Given the description of an element on the screen output the (x, y) to click on. 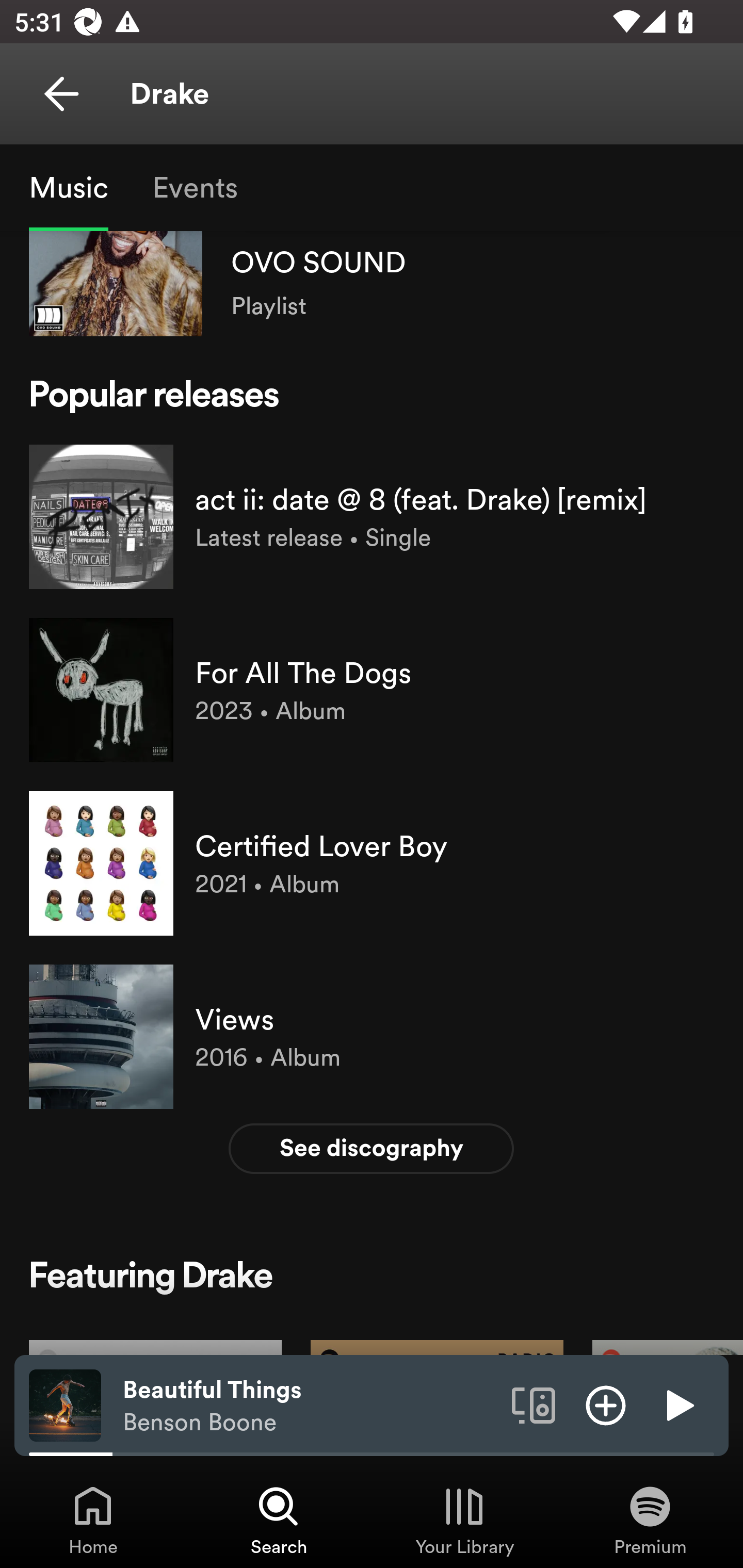
Back (60, 93)
Events (194, 187)
OVO SOUND Playlist (371, 282)
For All The Dogs 2023 • Album (371, 689)
Certified Lover Boy 2021 • Album (371, 863)
Views 2016 • Album (371, 1036)
See discography (371, 1148)
Beautiful Things Benson Boone (309, 1405)
The cover art of the currently playing track (64, 1404)
Connect to a device. Opens the devices menu (533, 1404)
Add item (605, 1404)
Play (677, 1404)
Home, Tab 1 of 4 Home Home (92, 1519)
Search, Tab 2 of 4 Search Search (278, 1519)
Your Library, Tab 3 of 4 Your Library Your Library (464, 1519)
Premium, Tab 4 of 4 Premium Premium (650, 1519)
